Given the description of an element on the screen output the (x, y) to click on. 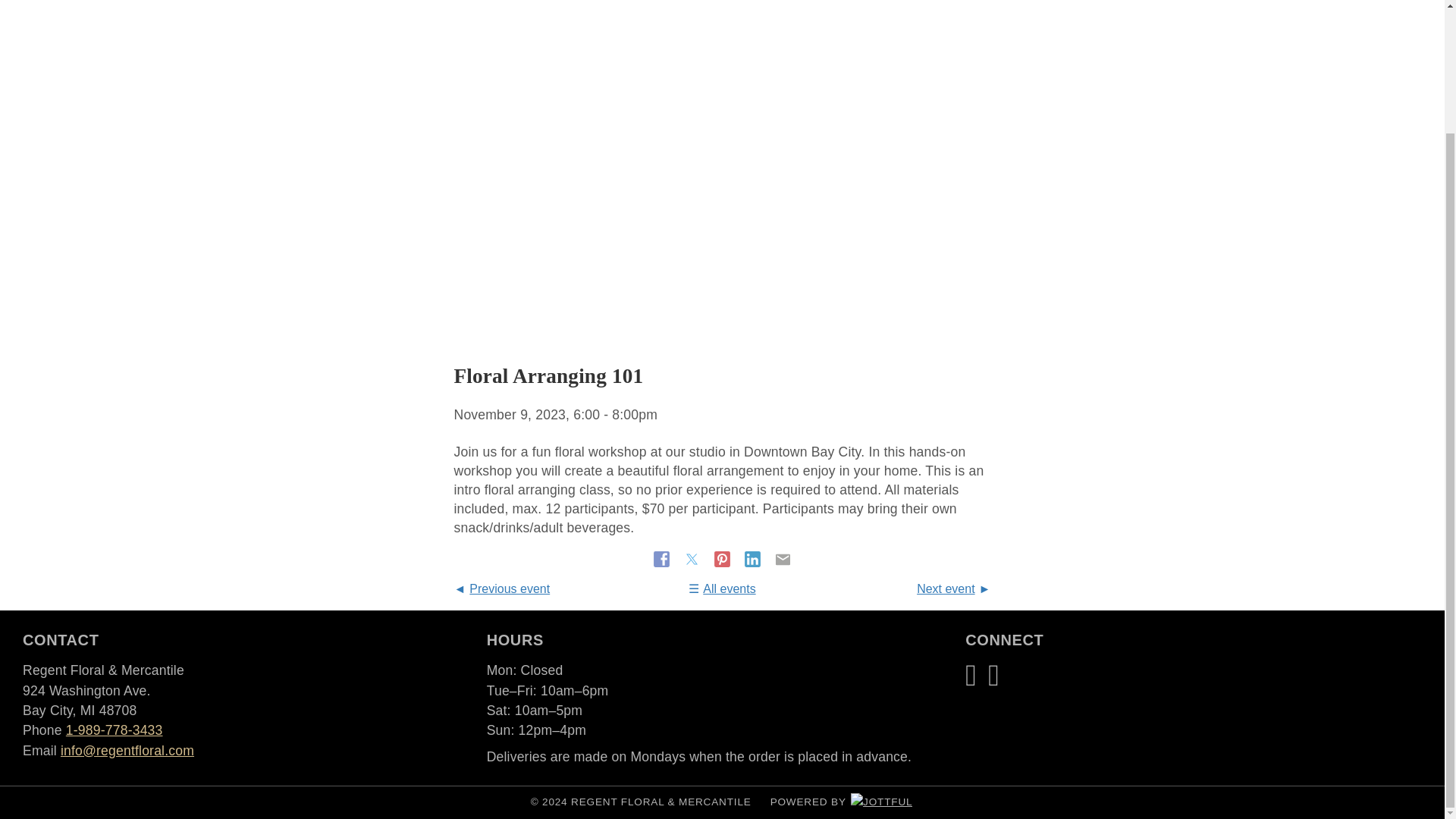
Facebook page (970, 675)
Share on Facebook (663, 558)
1-989-778-3433 (114, 729)
Previous event (501, 588)
Share in an email (782, 558)
All events (721, 588)
Share on LinkedIn (753, 558)
Next event (953, 588)
Save on Pinterest (724, 558)
write email (127, 750)
dial number (114, 729)
Instagram wall (993, 675)
Tweet this (693, 558)
